Given the description of an element on the screen output the (x, y) to click on. 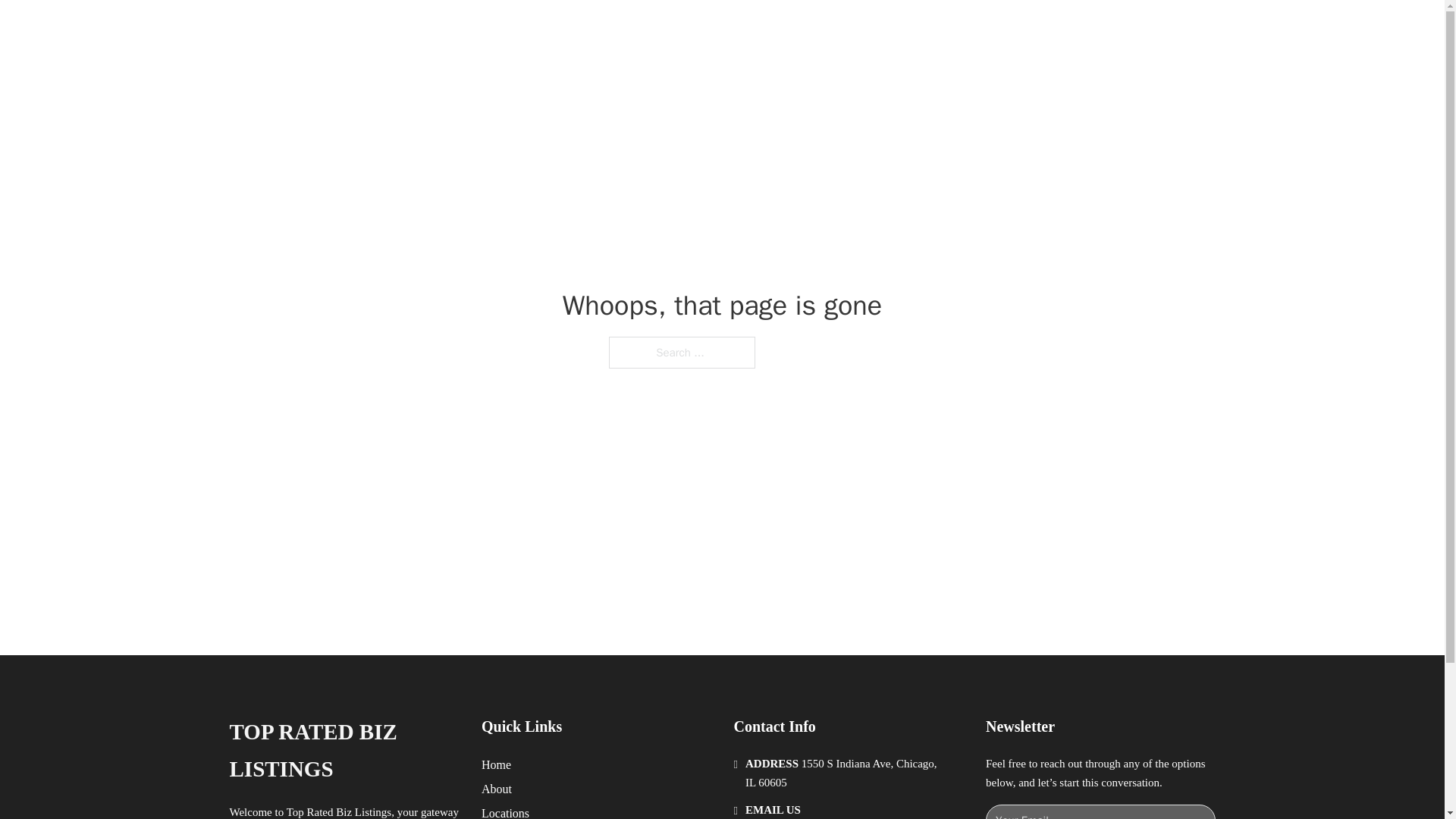
Locations (505, 811)
Home (496, 764)
TOP RATED BIZ LISTINGS (343, 750)
About (496, 788)
HOME (919, 29)
TOP RATED BIZ LISTINGS (432, 28)
LOCATIONS (990, 29)
